Given the description of an element on the screen output the (x, y) to click on. 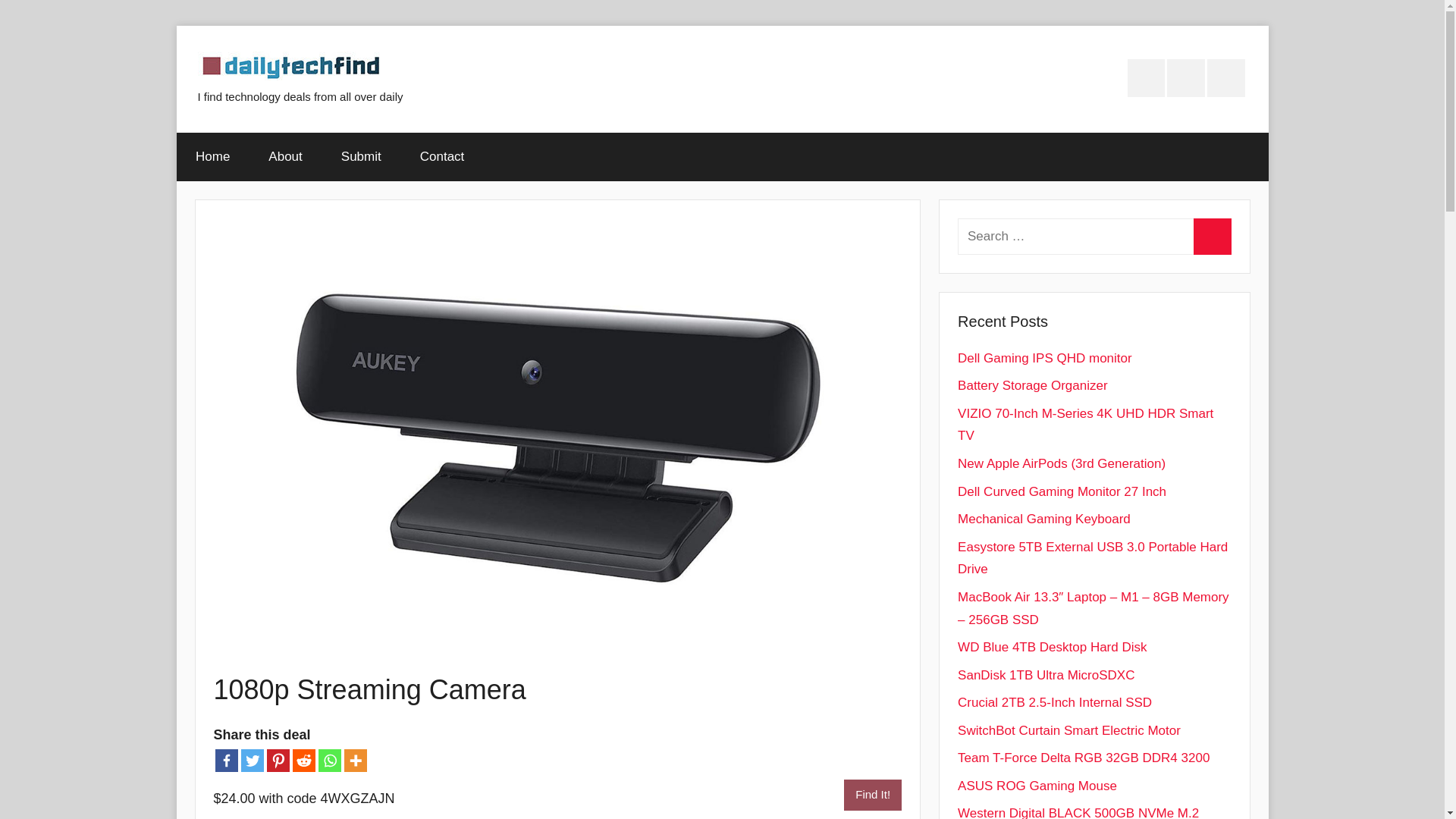
Contact (441, 156)
Reddit (303, 760)
Facebook (226, 760)
Search for: (1094, 236)
ASUS ROG Gaming Mouse (1037, 785)
VIZIO 70-Inch M-Series 4K UHD HDR Smart TV (1085, 424)
Battery Storage Organizer (1032, 385)
Crucial 2TB 2.5-Inch Internal SSD (1054, 702)
Instagram (1186, 77)
Team T-Force Delta RGB 32GB DDR4 3200 (1083, 757)
